Given the description of an element on the screen output the (x, y) to click on. 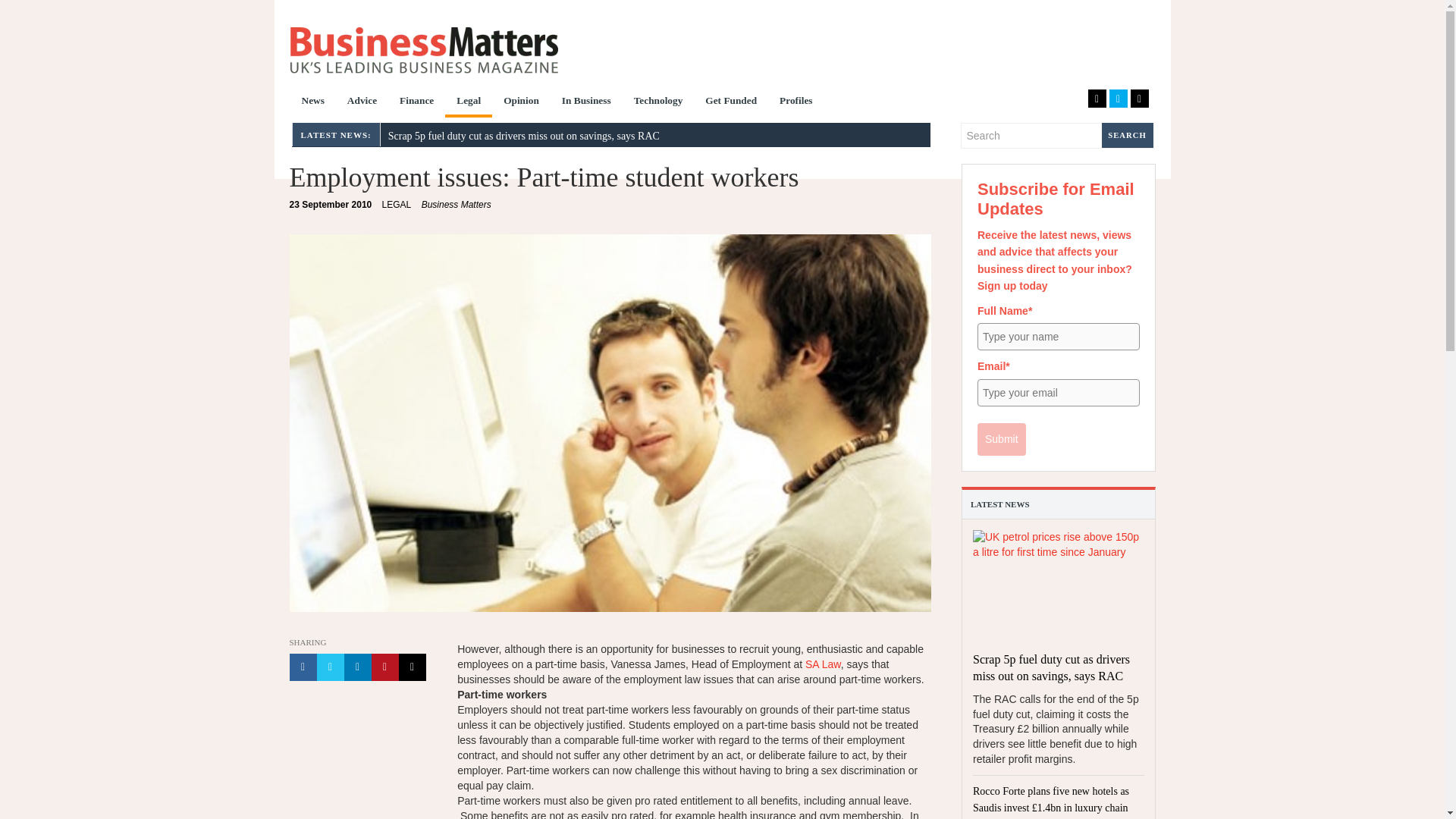
In Business (586, 101)
LEGAL (396, 204)
Opinion (521, 101)
News (311, 101)
Legal (468, 101)
SA Law (823, 664)
23 September 2010 (330, 204)
Advice (362, 101)
Technology (658, 101)
